Given the description of an element on the screen output the (x, y) to click on. 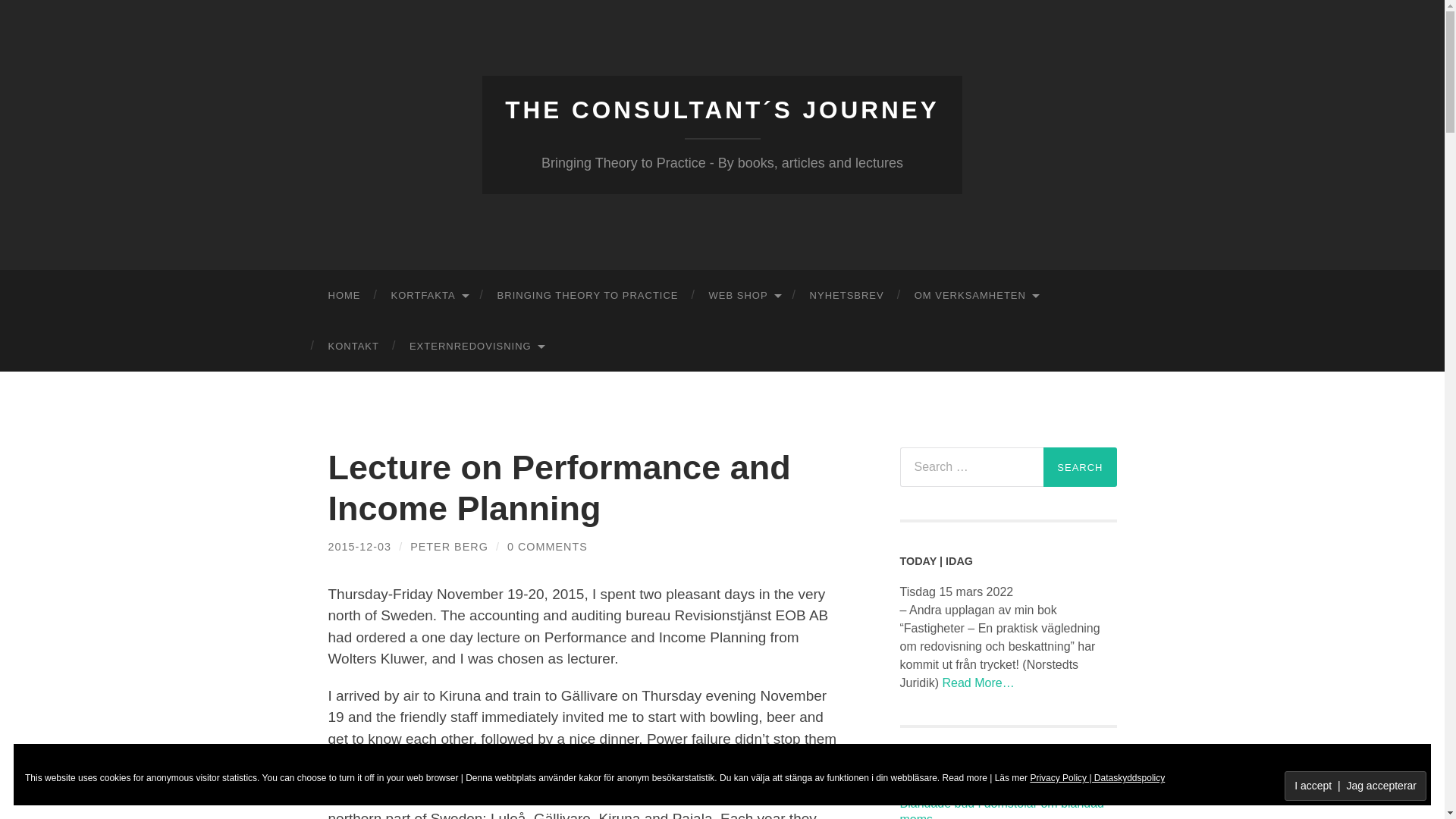
KORTFAKTA (428, 295)
WEB SHOP (743, 295)
Search (1079, 466)
Lecture on Performance and Income Planning (558, 487)
Lecture on Performance and Income Planning (359, 546)
Posts by Peter Berg (448, 546)
NYHETSBREV (846, 295)
HOME (344, 295)
BRINGING THEORY TO PRACTICE (587, 295)
Search (1079, 466)
